Given the description of an element on the screen output the (x, y) to click on. 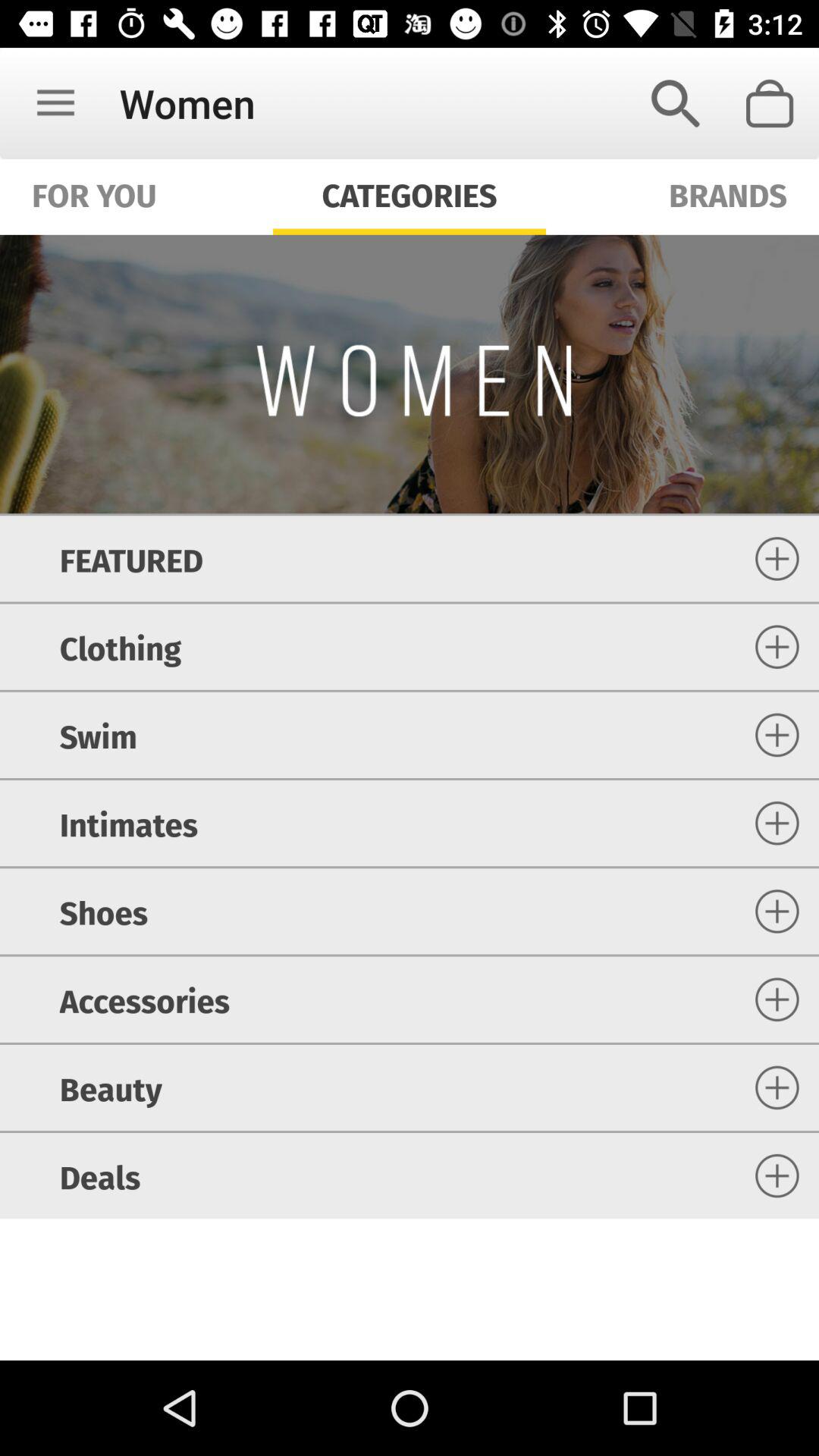
select item above the deals (110, 1087)
